Given the description of an element on the screen output the (x, y) to click on. 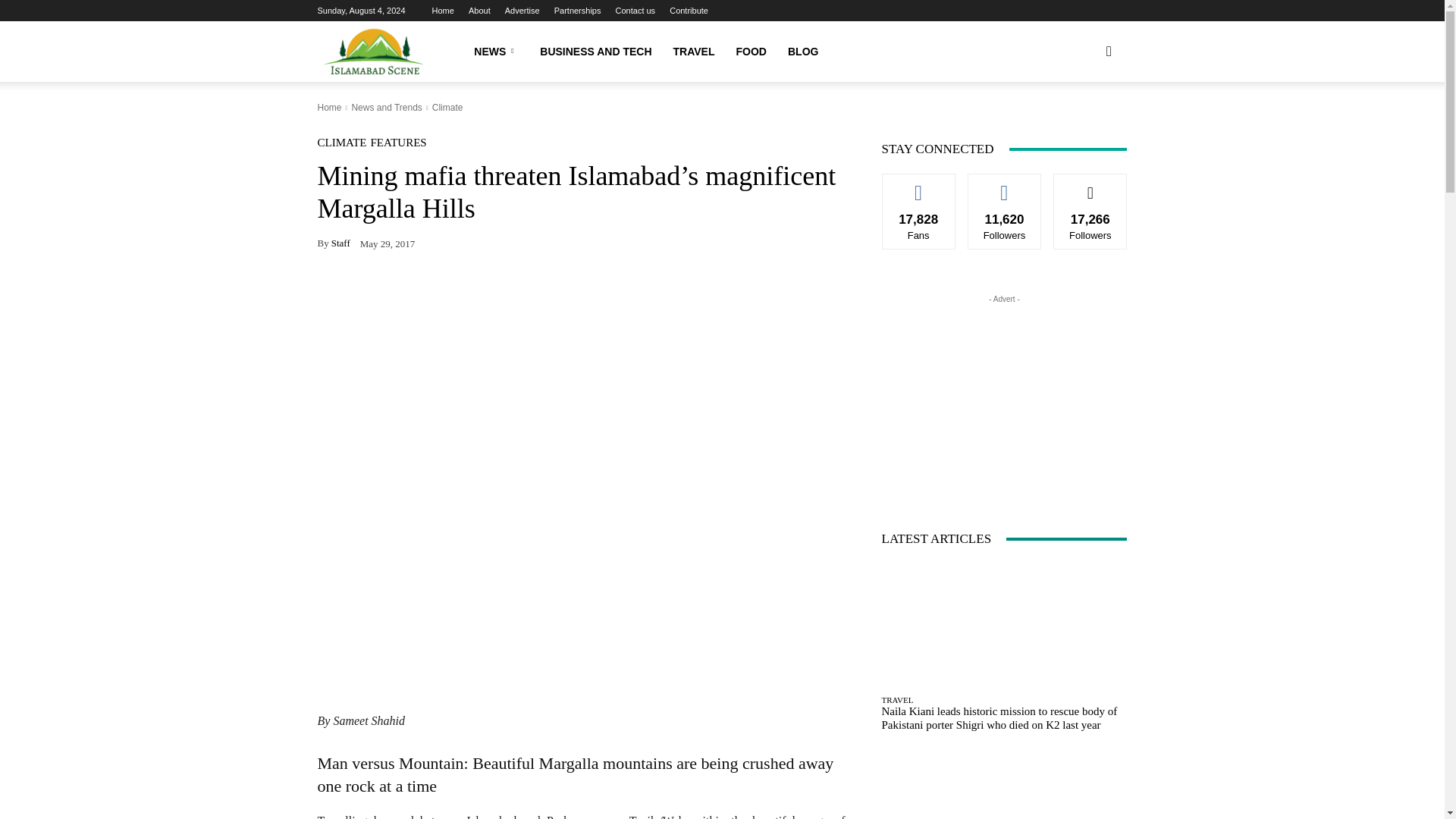
View all posts in News and Trends (386, 107)
Climate (447, 107)
Islamabad Scene (373, 51)
CLIMATE (341, 142)
About (479, 10)
Contact us (635, 10)
Home (328, 107)
Search (1085, 124)
News and Trends (386, 107)
NEWS (496, 51)
BUSINESS AND TECH (595, 51)
FEATURES (397, 142)
TRAVEL (693, 51)
Contribute (688, 10)
Home (443, 10)
